Given the description of an element on the screen output the (x, y) to click on. 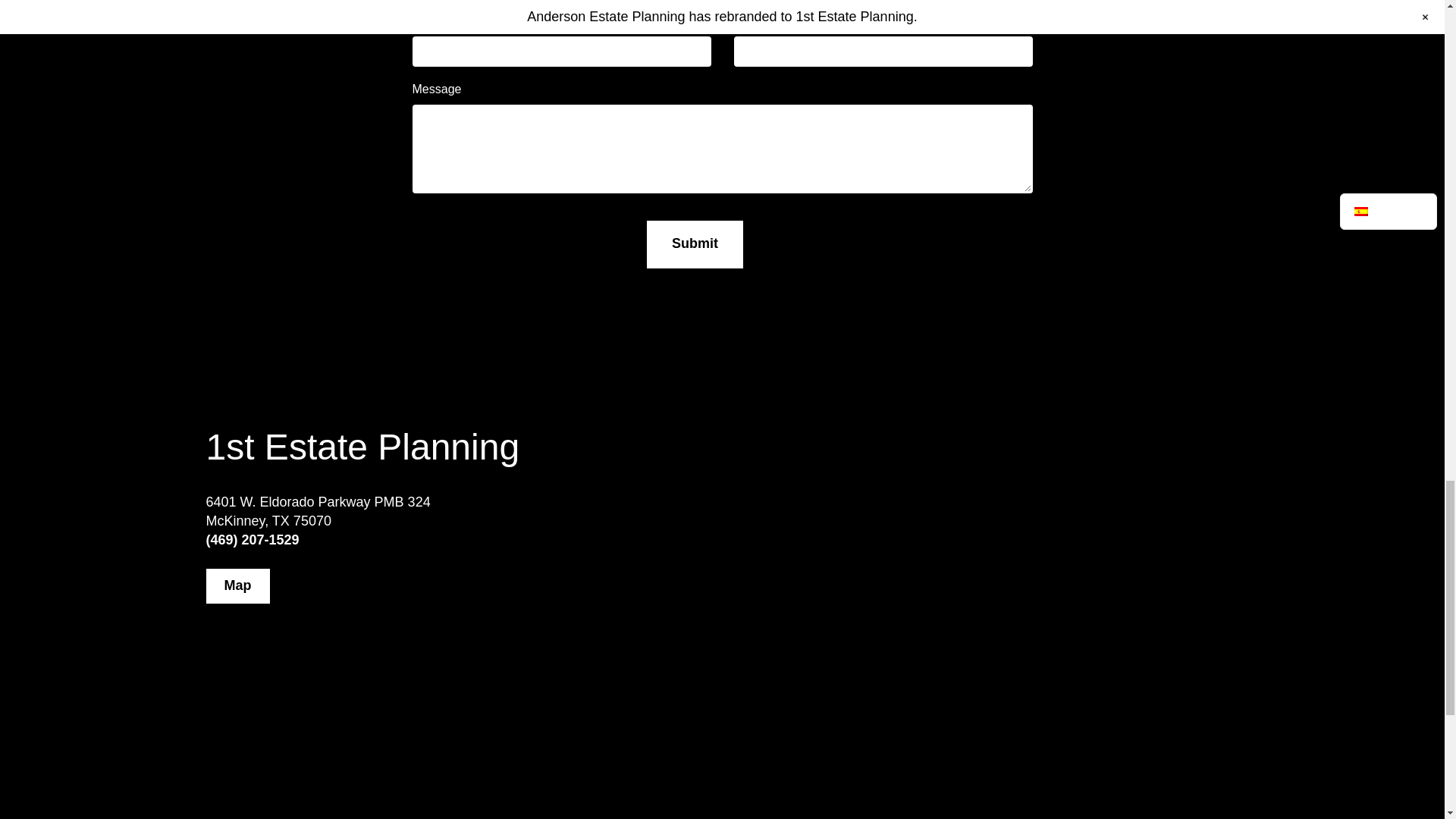
Submit (694, 244)
